Given the description of an element on the screen output the (x, y) to click on. 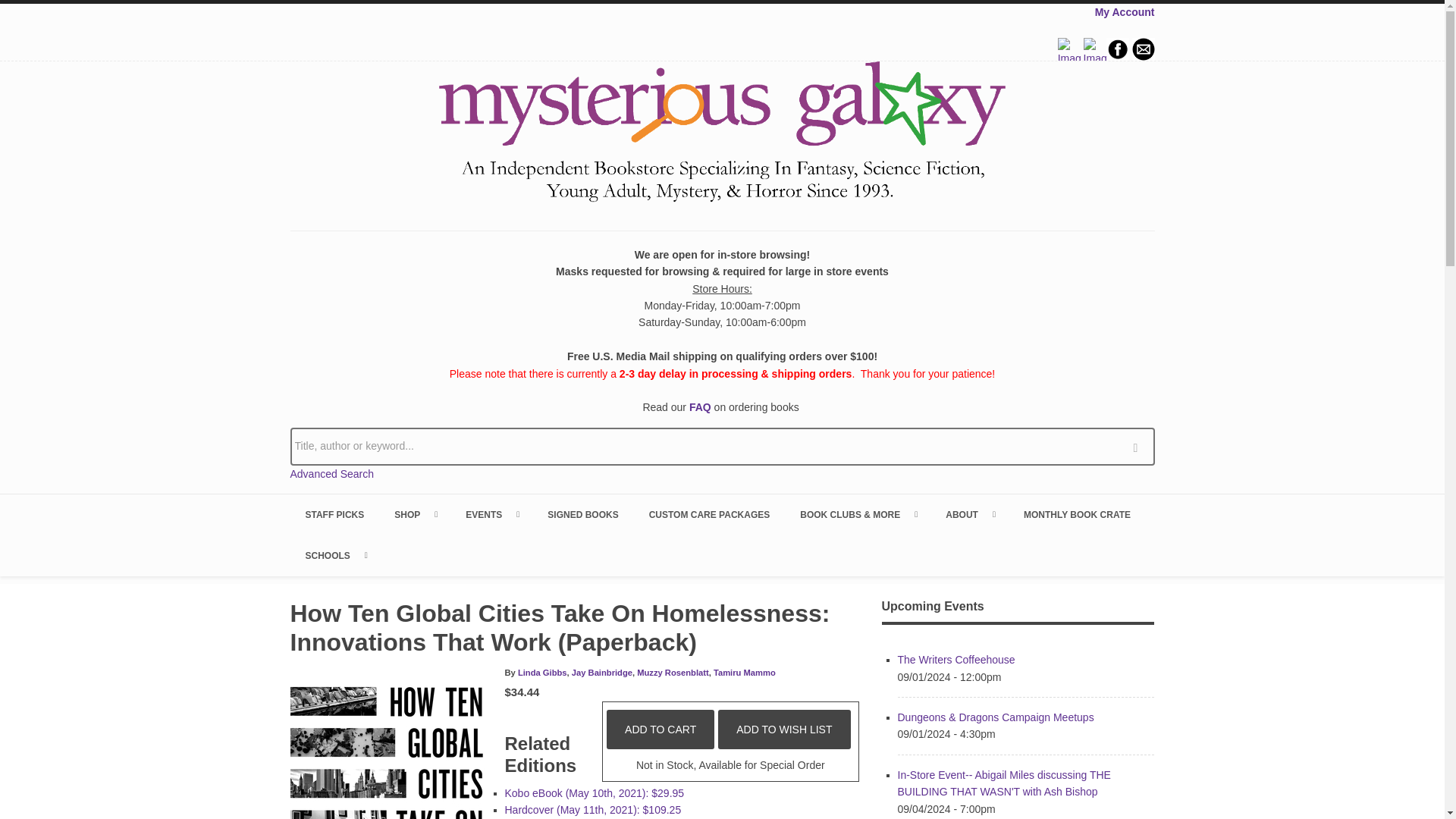
FAQ (699, 407)
Advanced Search (331, 473)
Home (722, 134)
STAFF PICKS (333, 514)
EVENTS (490, 514)
Add to Cart (660, 729)
Title, author or keyword... (721, 446)
Add to Wish List (783, 729)
SHOP (413, 514)
